Given the description of an element on the screen output the (x, y) to click on. 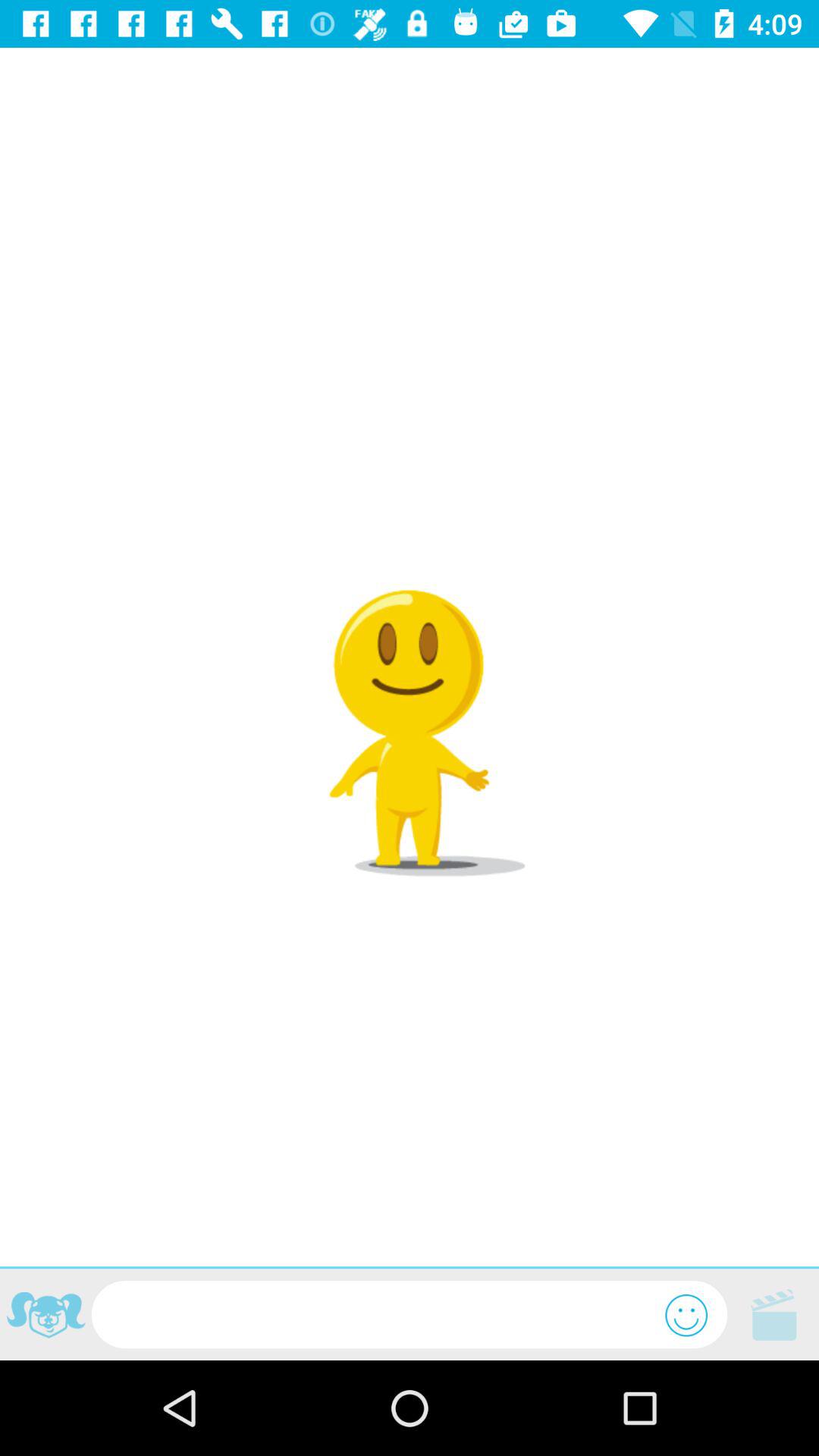
profile change (45, 1317)
